Given the description of an element on the screen output the (x, y) to click on. 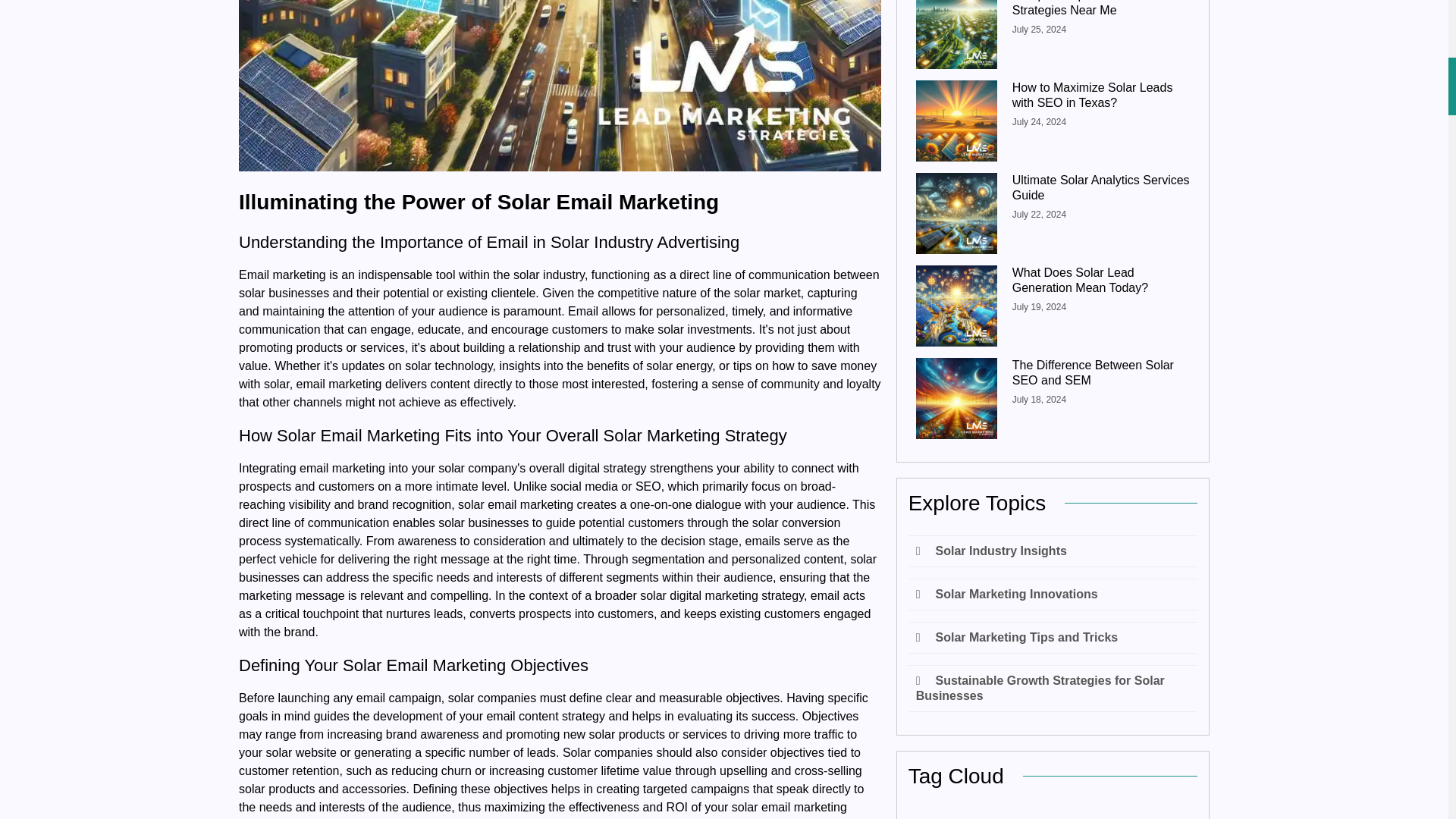
Compare Top Solar Social Media Strategies Near Me (1100, 9)
